Given the description of an element on the screen output the (x, y) to click on. 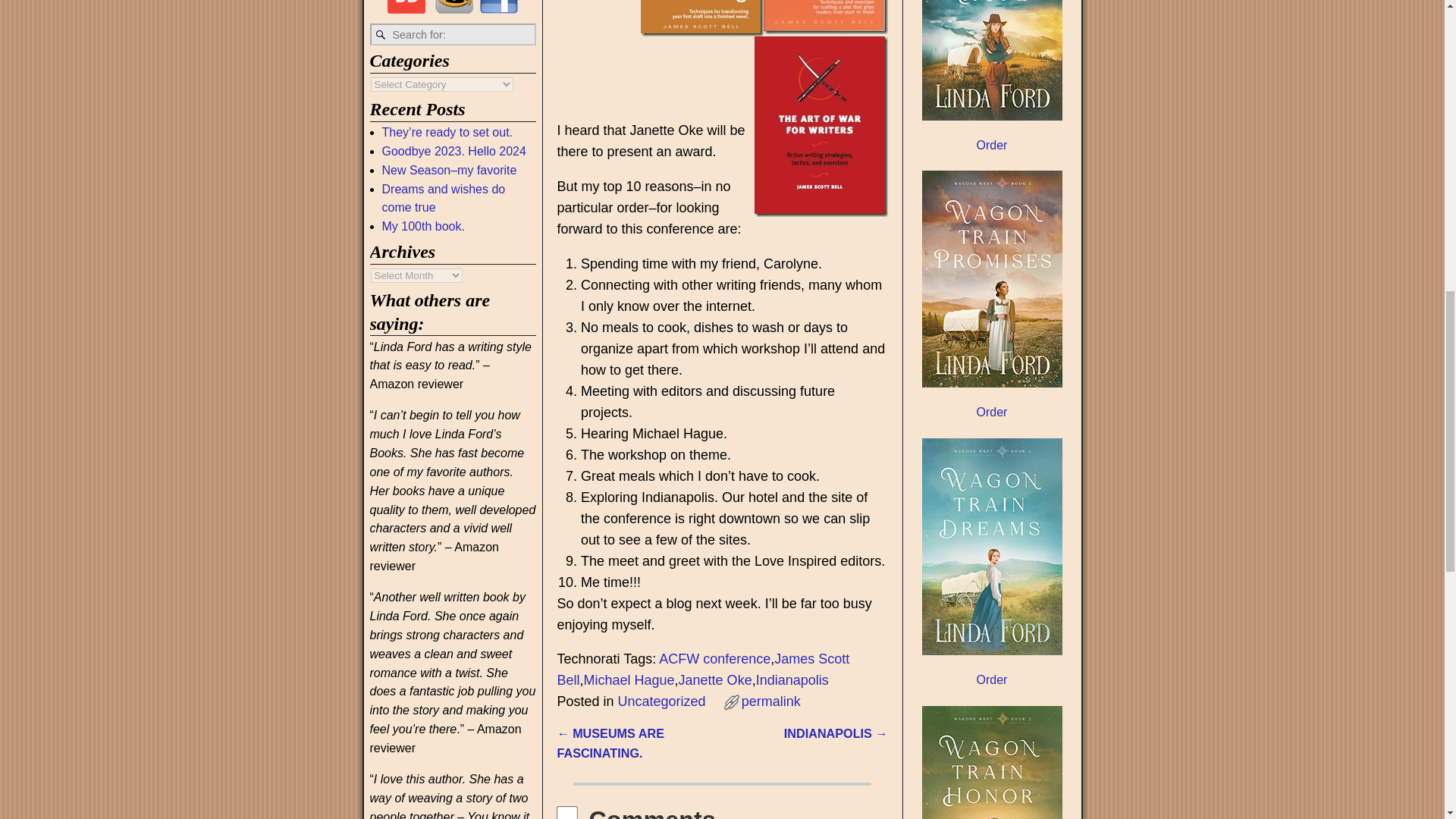
permalink (770, 701)
Dreams and wishes do come true (443, 198)
Michael Hague (628, 679)
Permalink to CONFERENCE ANTICIPATION (770, 701)
Uncategorized (661, 701)
Janette Oke (715, 679)
ACFW conference (714, 658)
Indianapolis (791, 679)
My 100th book. (422, 226)
Goodbye 2023. Hello 2024 (453, 151)
